Given the description of an element on the screen output the (x, y) to click on. 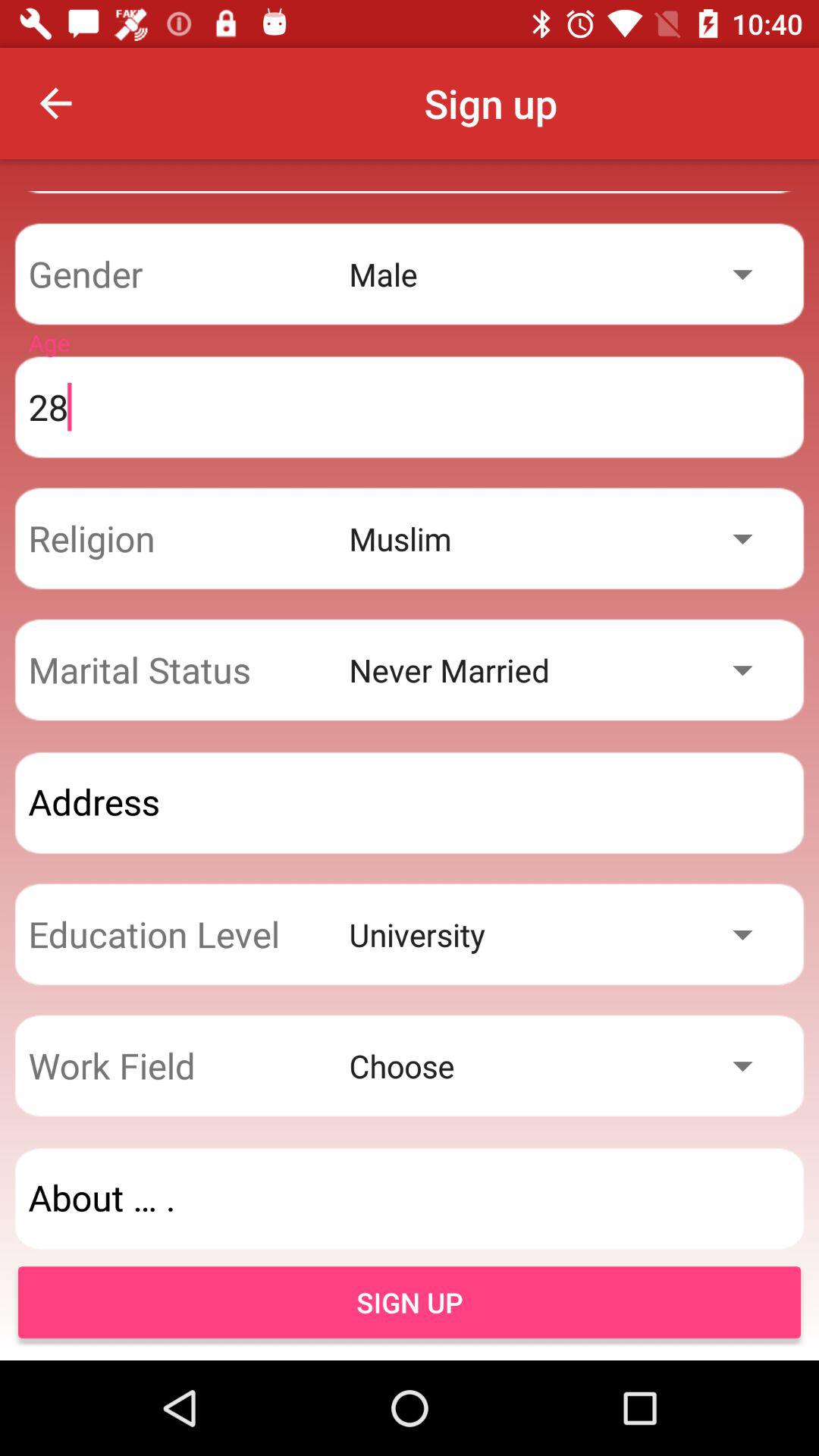
edit section (409, 1198)
